Given the description of an element on the screen output the (x, y) to click on. 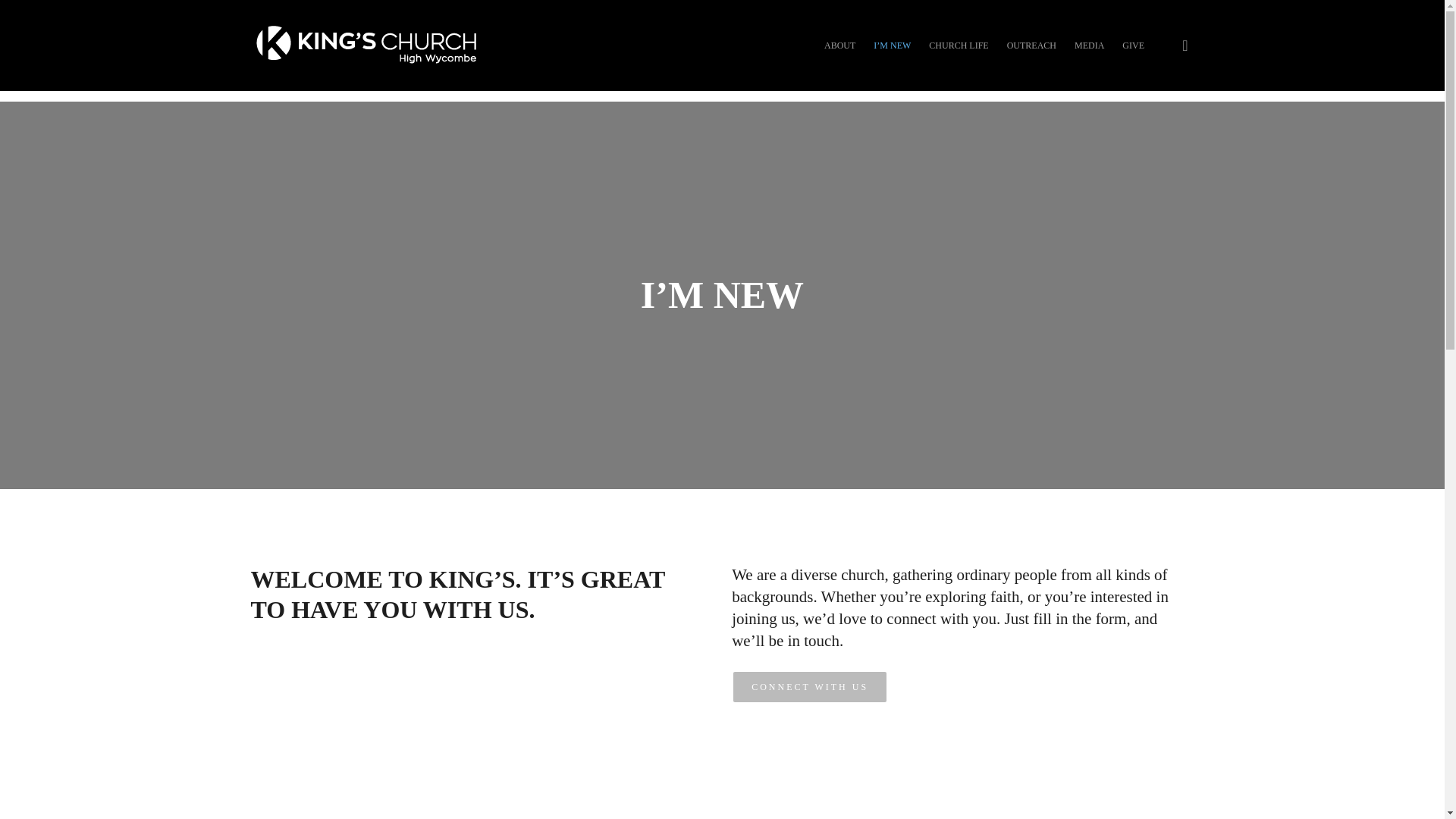
CONNECT WITH US (810, 686)
MEDIA (1089, 44)
CHURCH LIFE (958, 44)
GIVE (1133, 44)
OUTREACH (1031, 44)
ABOUT (839, 44)
search (1184, 45)
